Given the description of an element on the screen output the (x, y) to click on. 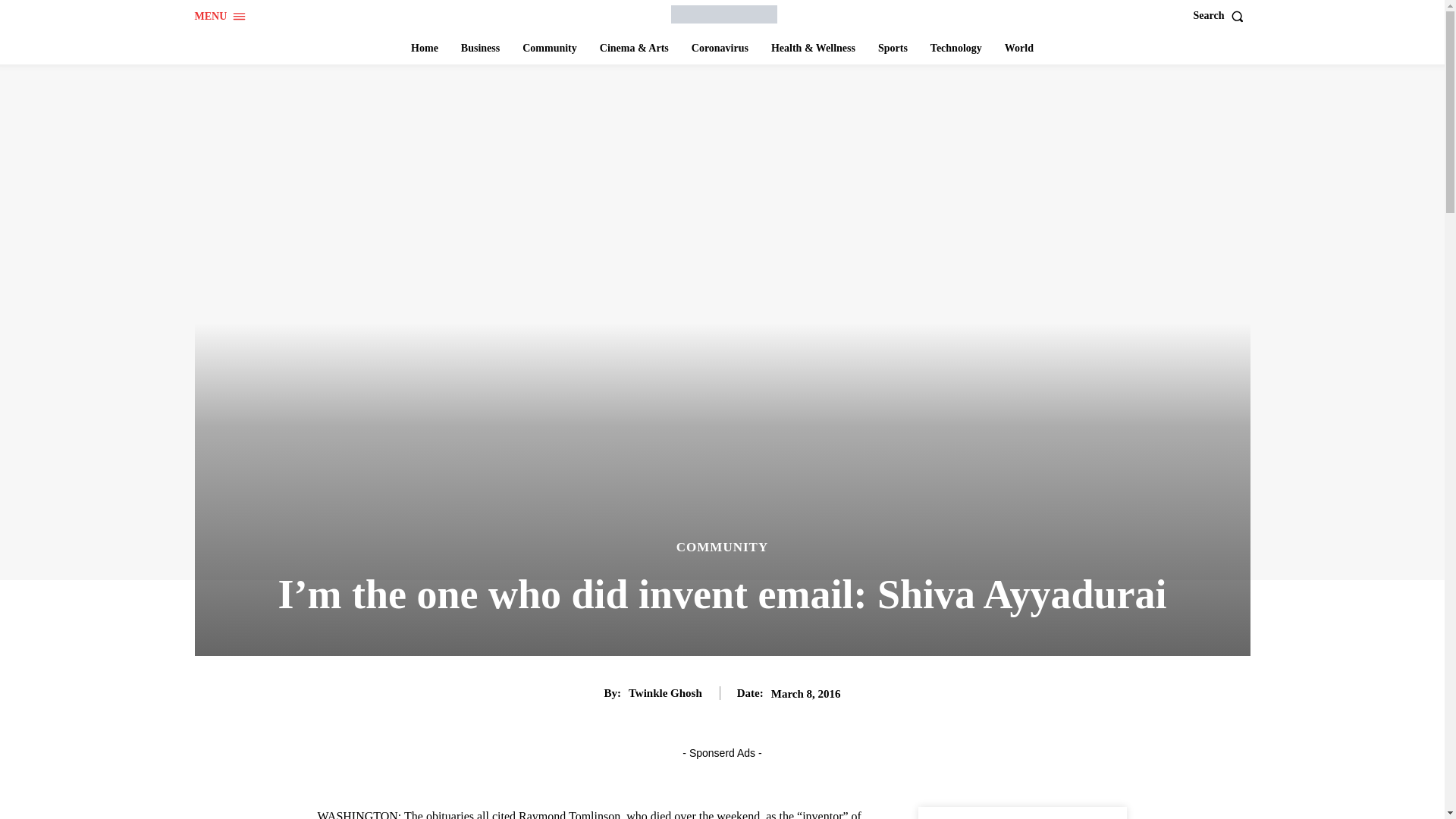
World (1019, 48)
The Indian Telegraph (724, 13)
Business (479, 48)
Search (1221, 15)
Home (424, 48)
Community (550, 48)
Sports (892, 48)
MENU (219, 16)
Technology (956, 48)
Coronavirus (719, 48)
